Given the description of an element on the screen output the (x, y) to click on. 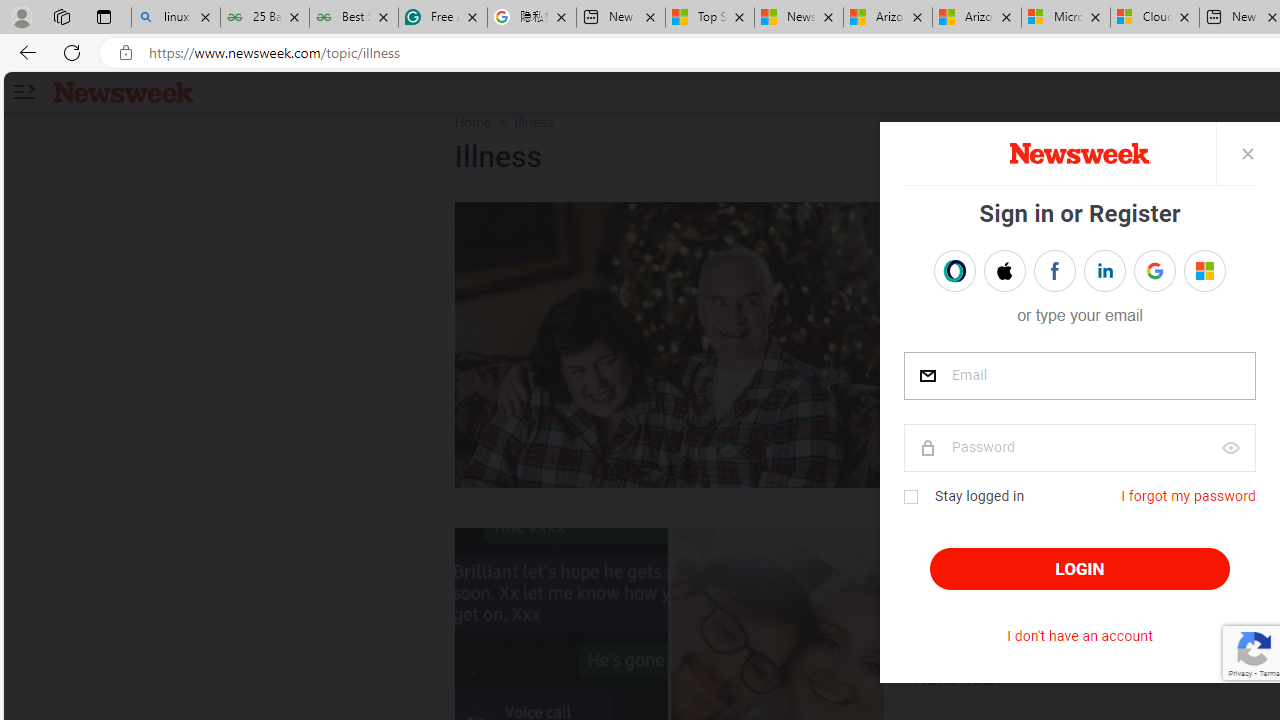
Sign in with FACEBOOK (1054, 270)
Sign in as Eugene EugeneLedger601@outlook.com (1204, 270)
MY TURN (963, 222)
password (1078, 448)
Eugene (1191, 271)
Cloud Computing Services | Microsoft Azure (1155, 17)
email (1078, 376)
